Given the description of an element on the screen output the (x, y) to click on. 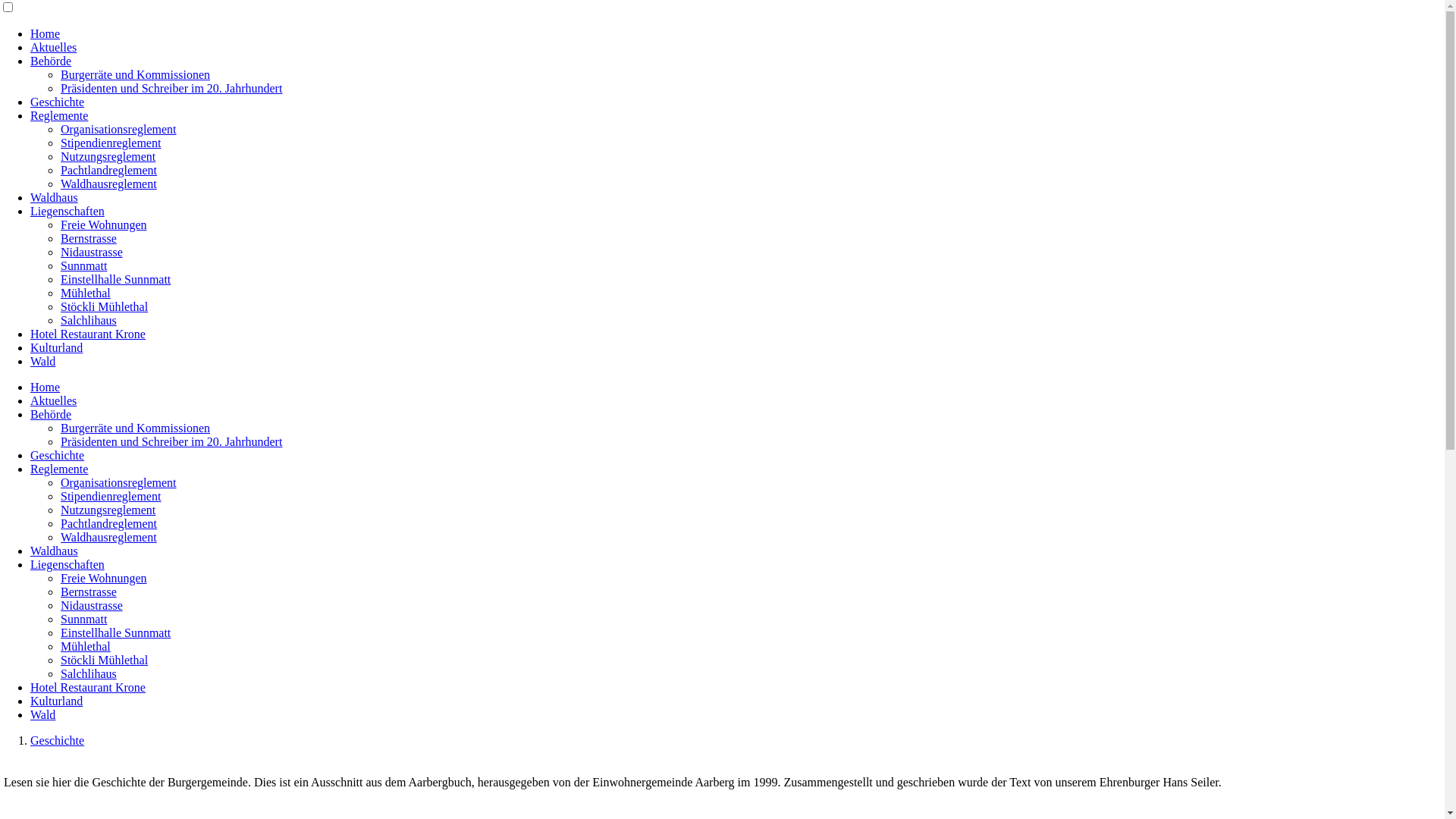
Nutzungsreglement Element type: text (107, 509)
Salchlihaus Element type: text (88, 673)
Organisationsreglement Element type: text (118, 482)
Waldhausreglement Element type: text (108, 183)
Pachtlandreglement Element type: text (108, 169)
Liegenschaften Element type: text (67, 210)
Organisationsreglement Element type: text (118, 128)
Pachtlandreglement Element type: text (108, 523)
Hotel Restaurant Krone Element type: text (87, 686)
Freie Wohnungen Element type: text (103, 577)
Home Element type: text (44, 33)
Sunnmatt Element type: text (83, 265)
Geschichte Element type: text (57, 454)
Wald Element type: text (42, 714)
Home Element type: text (44, 386)
Nidaustrasse Element type: text (91, 251)
Reglemente Element type: text (58, 468)
Einstellhalle Sunnmatt Element type: text (115, 632)
Waldhausreglement Element type: text (108, 536)
Geschichte Element type: text (57, 101)
Waldhaus Element type: text (54, 550)
Aktuelles Element type: text (53, 400)
Freie Wohnungen Element type: text (103, 224)
Einstellhalle Sunnmatt Element type: text (115, 279)
Reglemente Element type: text (58, 115)
Kulturland Element type: text (56, 347)
Hotel Restaurant Krone Element type: text (87, 333)
Nidaustrasse Element type: text (91, 605)
Liegenschaften Element type: text (67, 564)
Stipendienreglement Element type: text (110, 495)
Waldhaus Element type: text (54, 197)
Wald Element type: text (42, 360)
Kulturland Element type: text (56, 700)
Bernstrasse Element type: text (88, 238)
Salchlihaus Element type: text (88, 319)
Geschichte Element type: text (57, 740)
Bernstrasse Element type: text (88, 591)
Aktuelles Element type: text (53, 46)
Nutzungsreglement Element type: text (107, 156)
Stipendienreglement Element type: text (110, 142)
Sunnmatt Element type: text (83, 618)
